Given the description of an element on the screen output the (x, y) to click on. 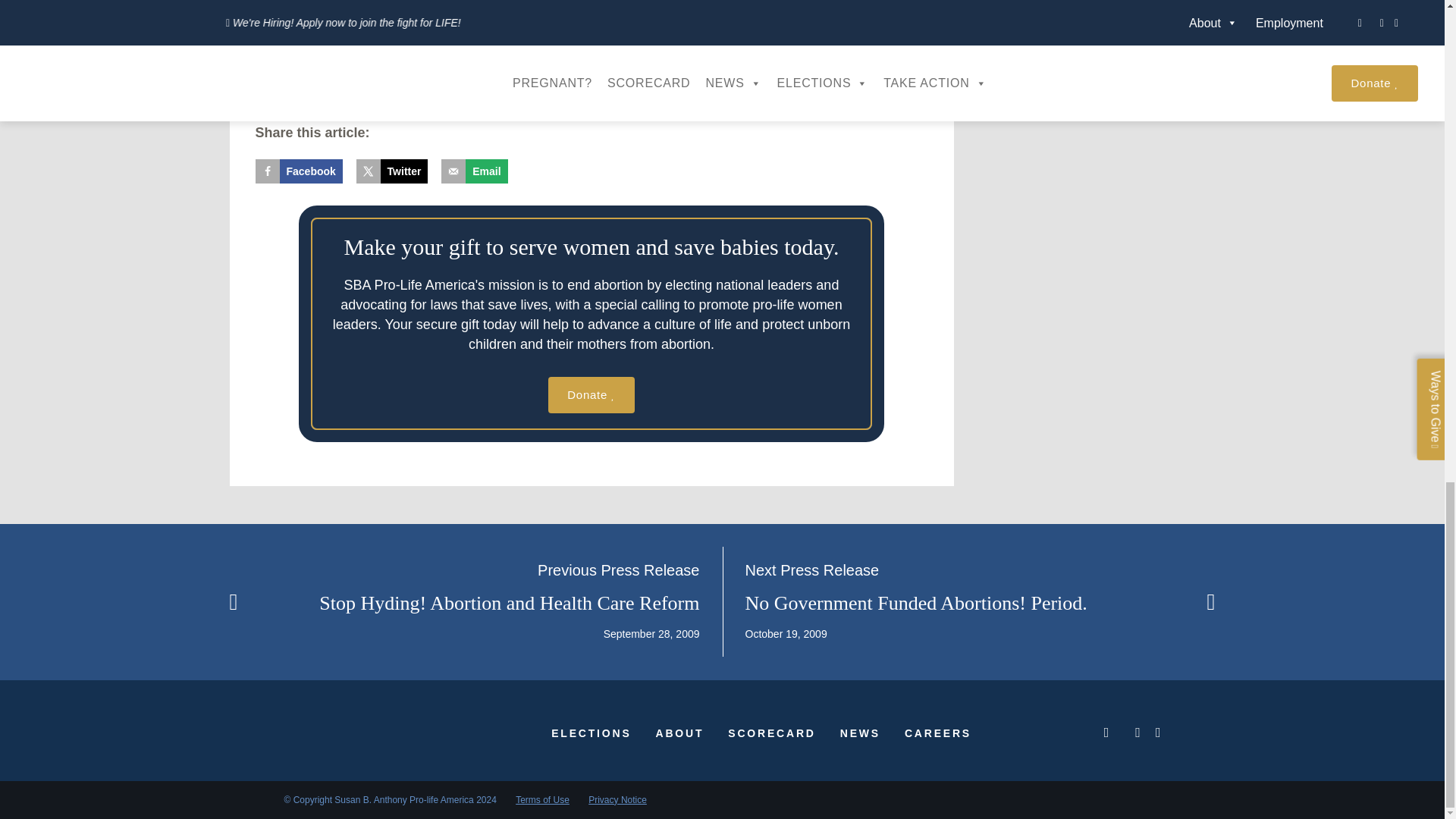
Send over email (473, 170)
Share on Facebook (298, 170)
Share on X (392, 170)
